Given the description of an element on the screen output the (x, y) to click on. 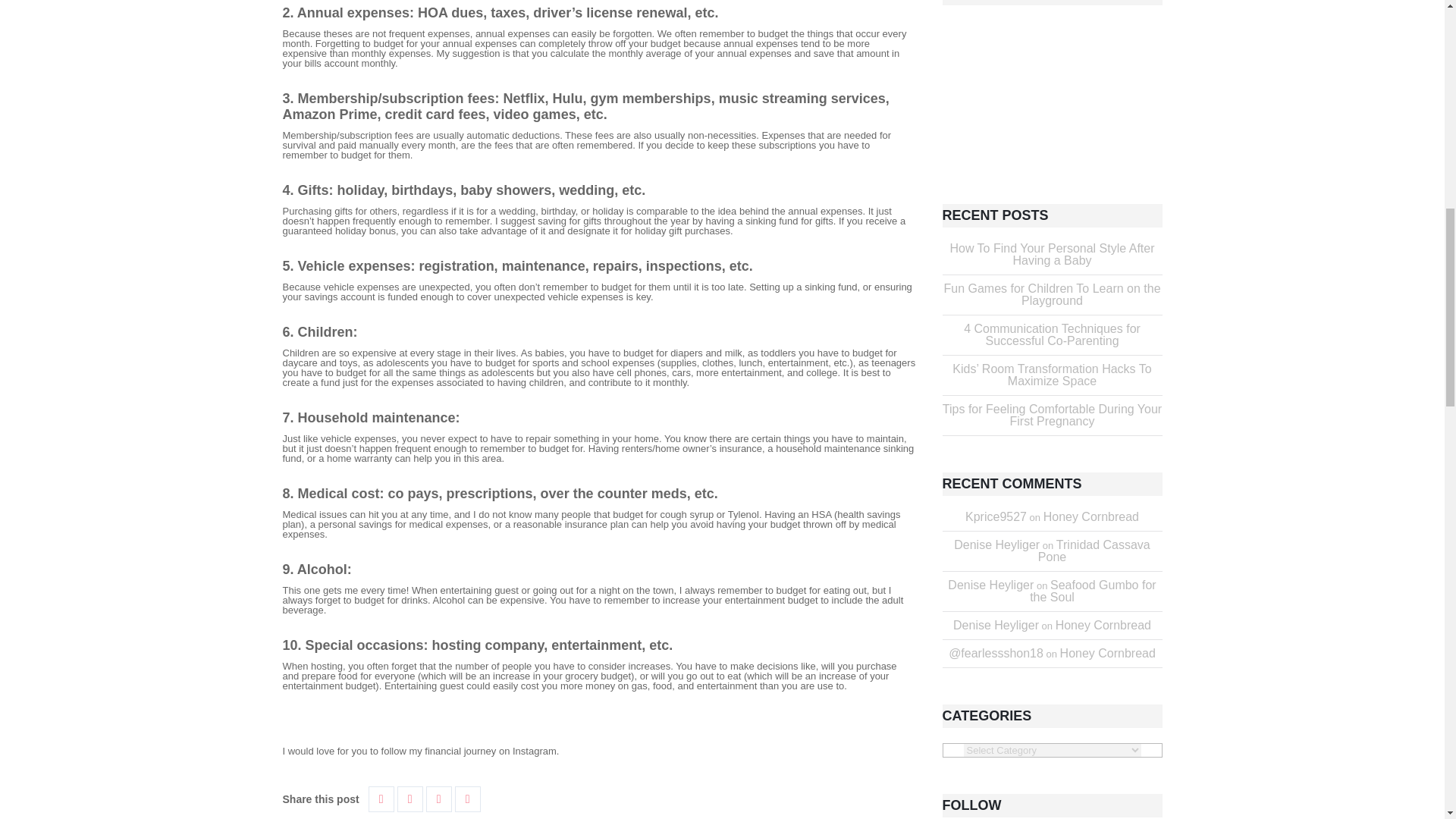
Share on Facebook (381, 799)
Share on Twitter (409, 799)
Share on Pinterest (438, 799)
Share on WhatsApp (467, 799)
